Given the description of an element on the screen output the (x, y) to click on. 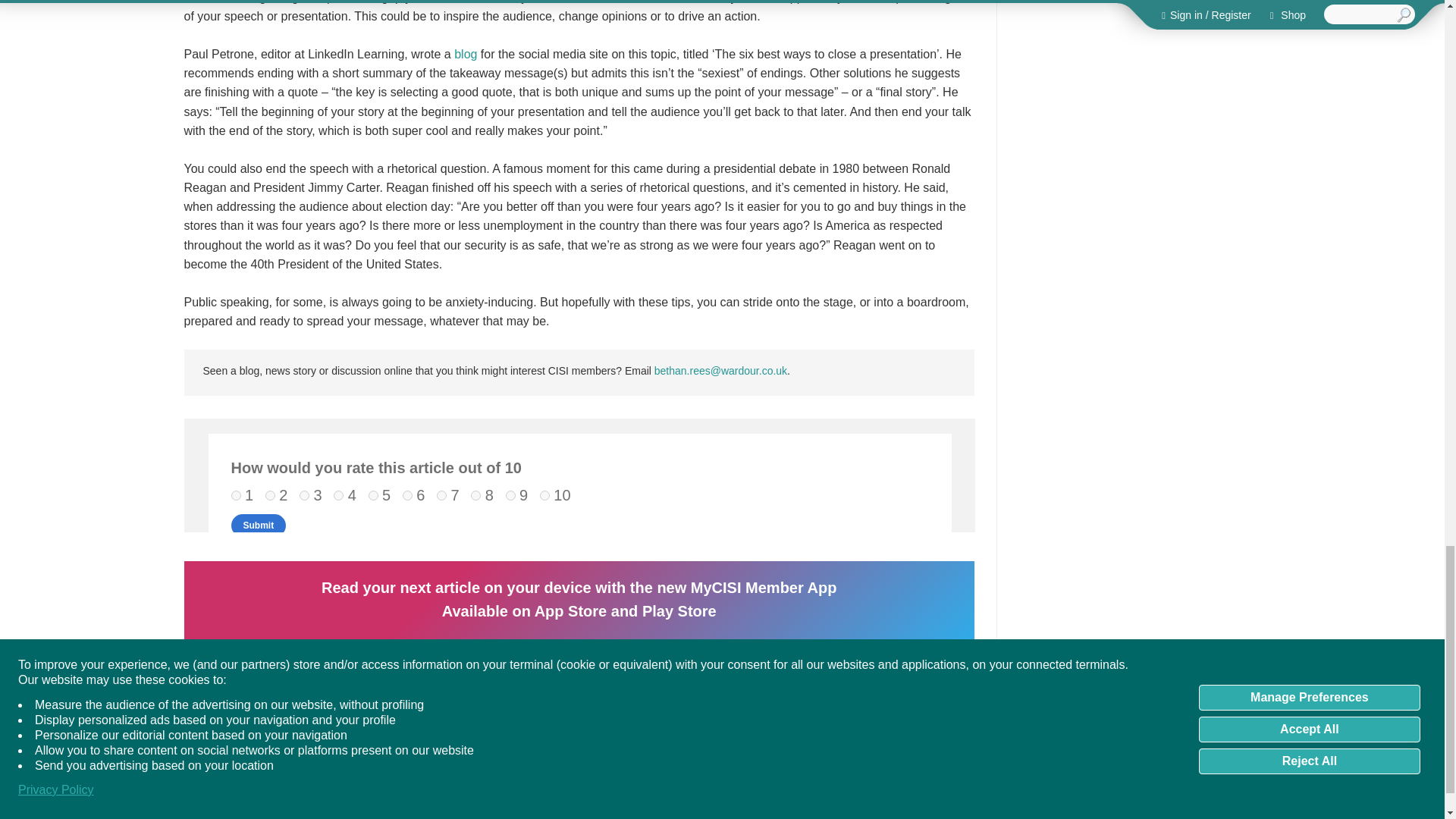
blog (465, 53)
